Given the description of an element on the screen output the (x, y) to click on. 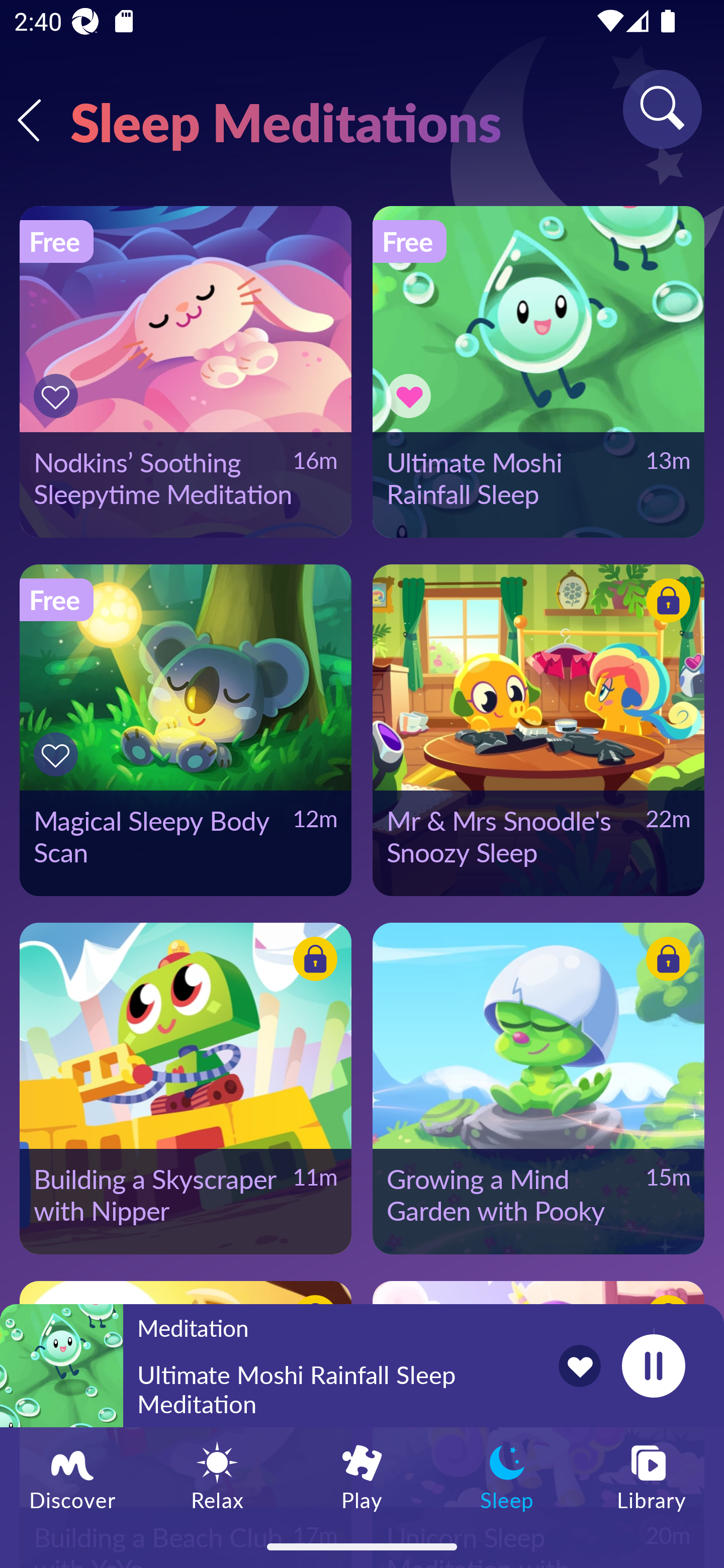
Button (58, 395)
Button (411, 395)
Button (665, 603)
Button (58, 753)
Button (311, 960)
Button (665, 960)
0.00125 Pause (653, 1365)
Discover (72, 1475)
Relax (216, 1475)
Play (361, 1475)
Library (651, 1475)
